Given the description of an element on the screen output the (x, y) to click on. 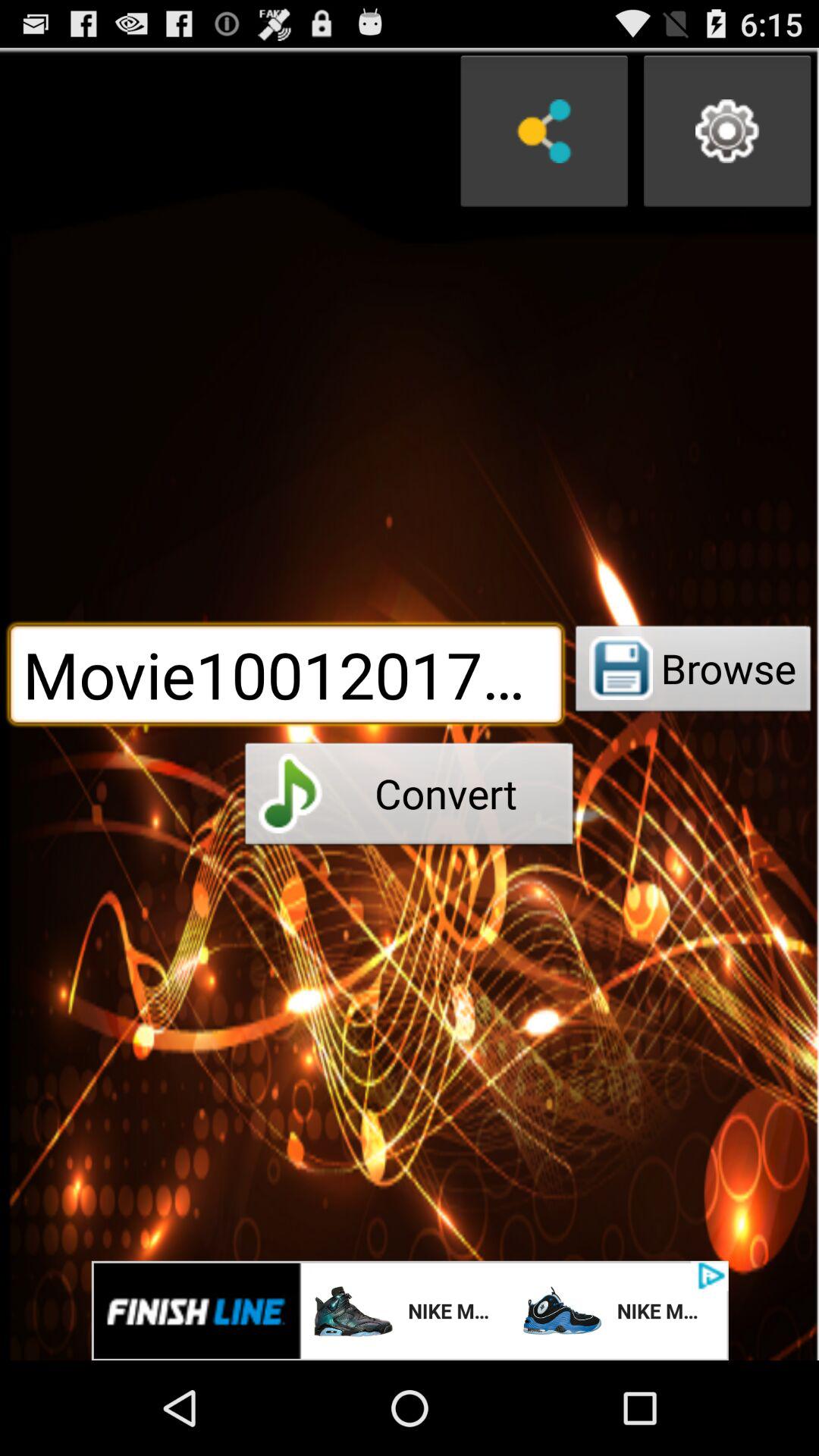
settings (727, 130)
